Given the description of an element on the screen output the (x, y) to click on. 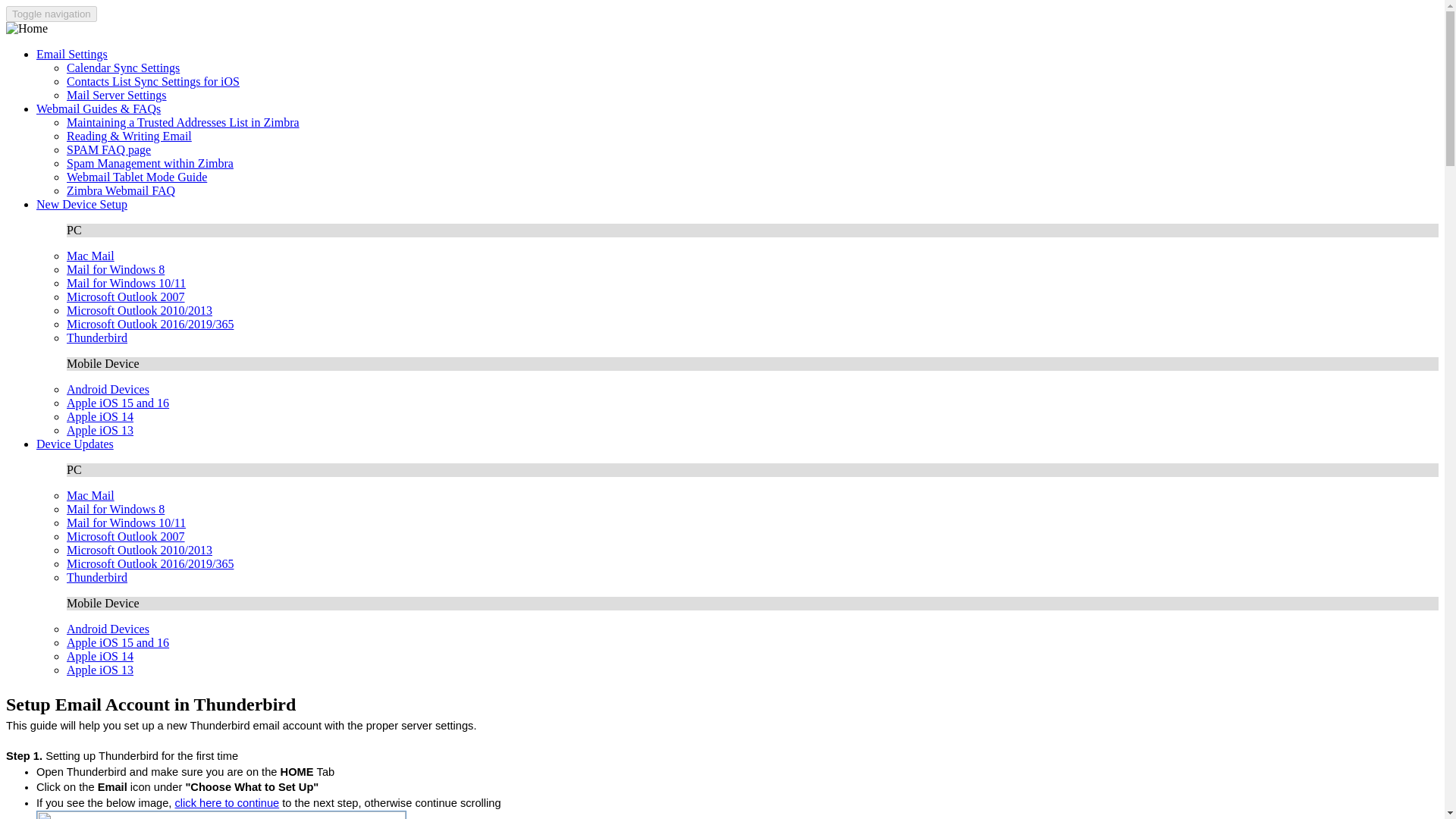
Thunderbird (97, 576)
Spam Management within Zimbra (149, 163)
Email Settings (71, 53)
Mail for Windows 8 (115, 269)
Mac Mail (90, 255)
Zimbra Webmail FAQ (120, 190)
Webmail Tablet Mode Guide (136, 176)
New Device Setup (82, 204)
Apple iOS 14 (99, 416)
Apple iOS 13 (99, 669)
Apple iOS 15 and 16 (117, 642)
Apple iOS 15 and 16 (117, 402)
Calendar Sync Settings (122, 67)
Microsoft Outlook 2007 (125, 296)
Microsoft Outlook 2007 (125, 535)
